Given the description of an element on the screen output the (x, y) to click on. 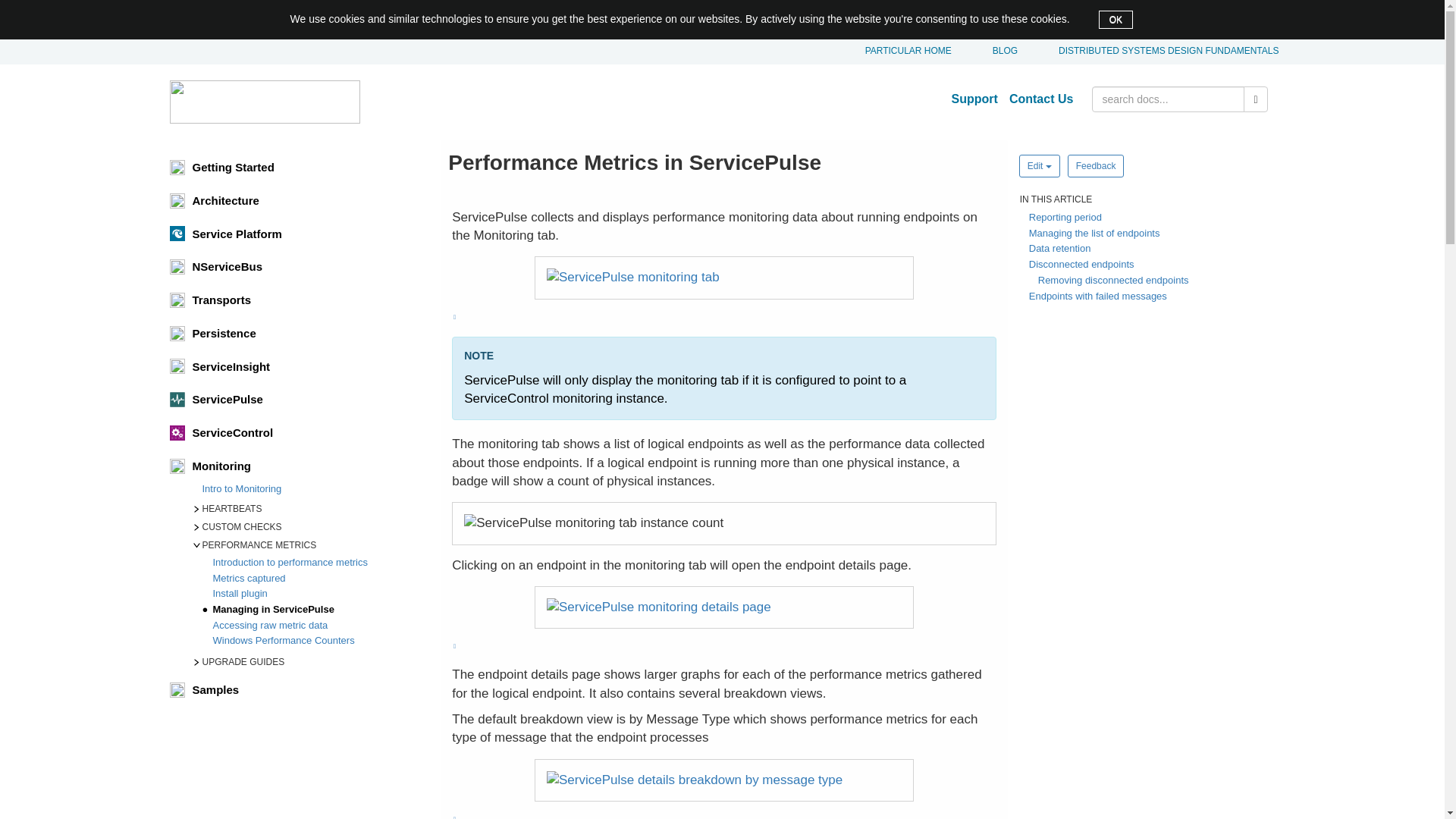
Accessing raw metric data (319, 626)
PARTICULAR HOME (901, 50)
BLOG (996, 50)
Install plugin (319, 594)
Support (976, 98)
OK (1115, 19)
Windows Performance Counters (319, 641)
Introduction to performance metrics (319, 563)
DISTRIBUTED SYSTEMS DESIGN FUNDAMENTALS (1160, 50)
Managing in ServicePulse (319, 610)
